Given the description of an element on the screen output the (x, y) to click on. 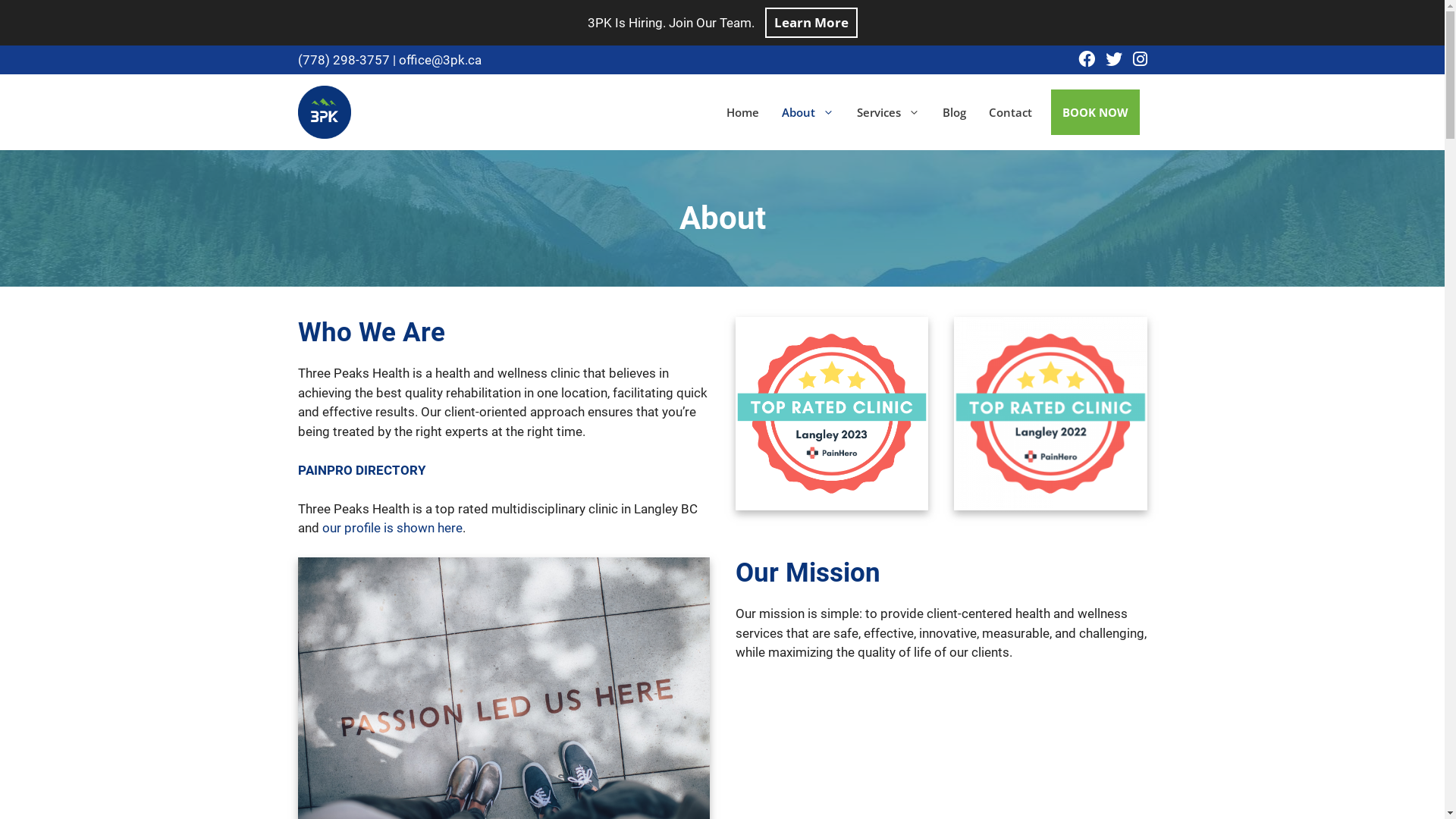
Contact Element type: text (1009, 111)
BOOK NOW Element type: text (1095, 111)
Home Element type: text (741, 111)
our profile is shown here Element type: text (391, 527)
Blog Element type: text (954, 111)
office@3pk.ca Element type: text (439, 59)
Learn More Element type: text (810, 22)
Services Element type: text (887, 111)
About Element type: text (807, 111)
(778) 298-3757 Element type: text (343, 59)
PAINPRO DIRECTORY Element type: text (361, 469)
